Given the description of an element on the screen output the (x, y) to click on. 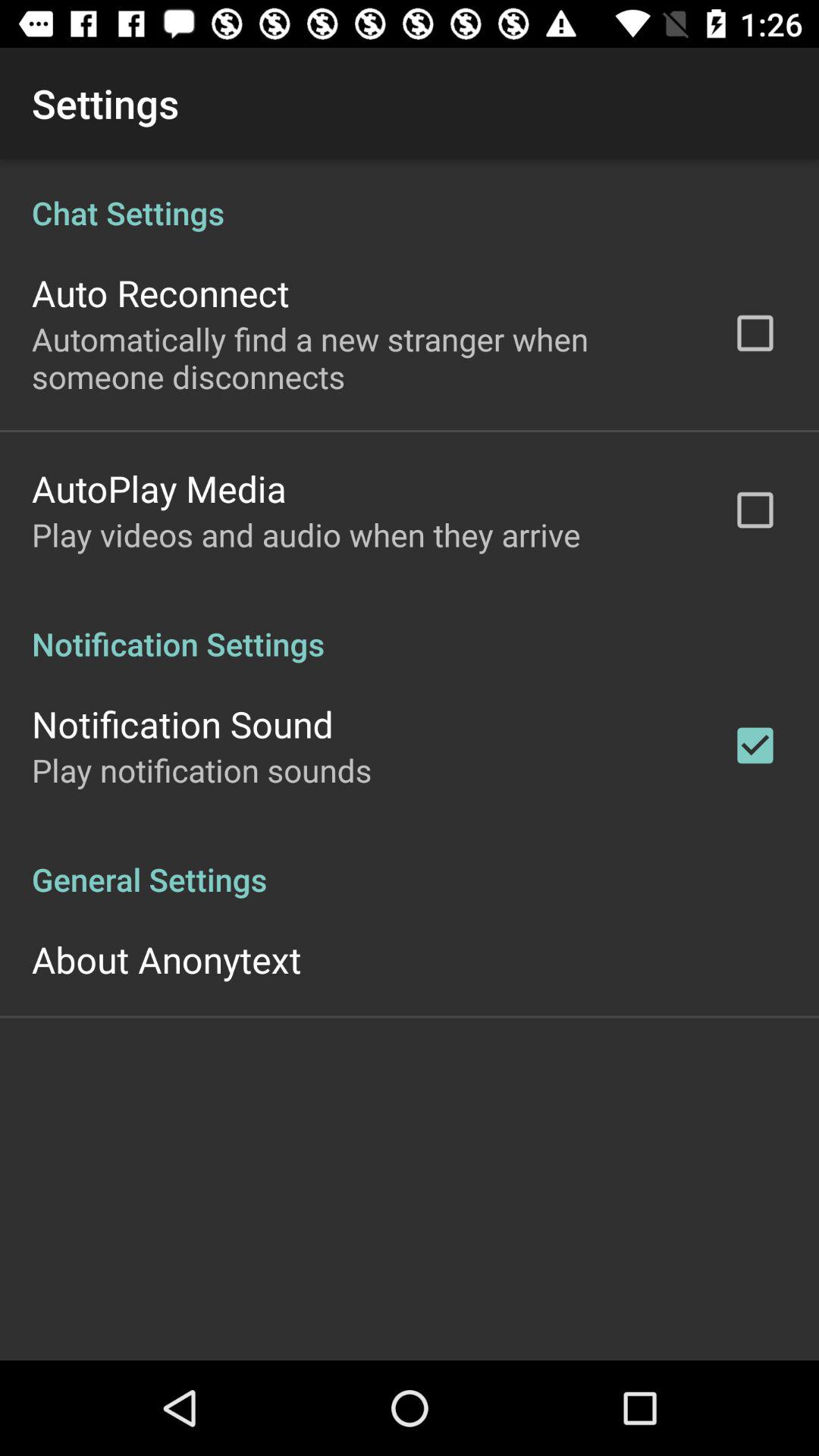
jump until the general settings icon (409, 862)
